Given the description of an element on the screen output the (x, y) to click on. 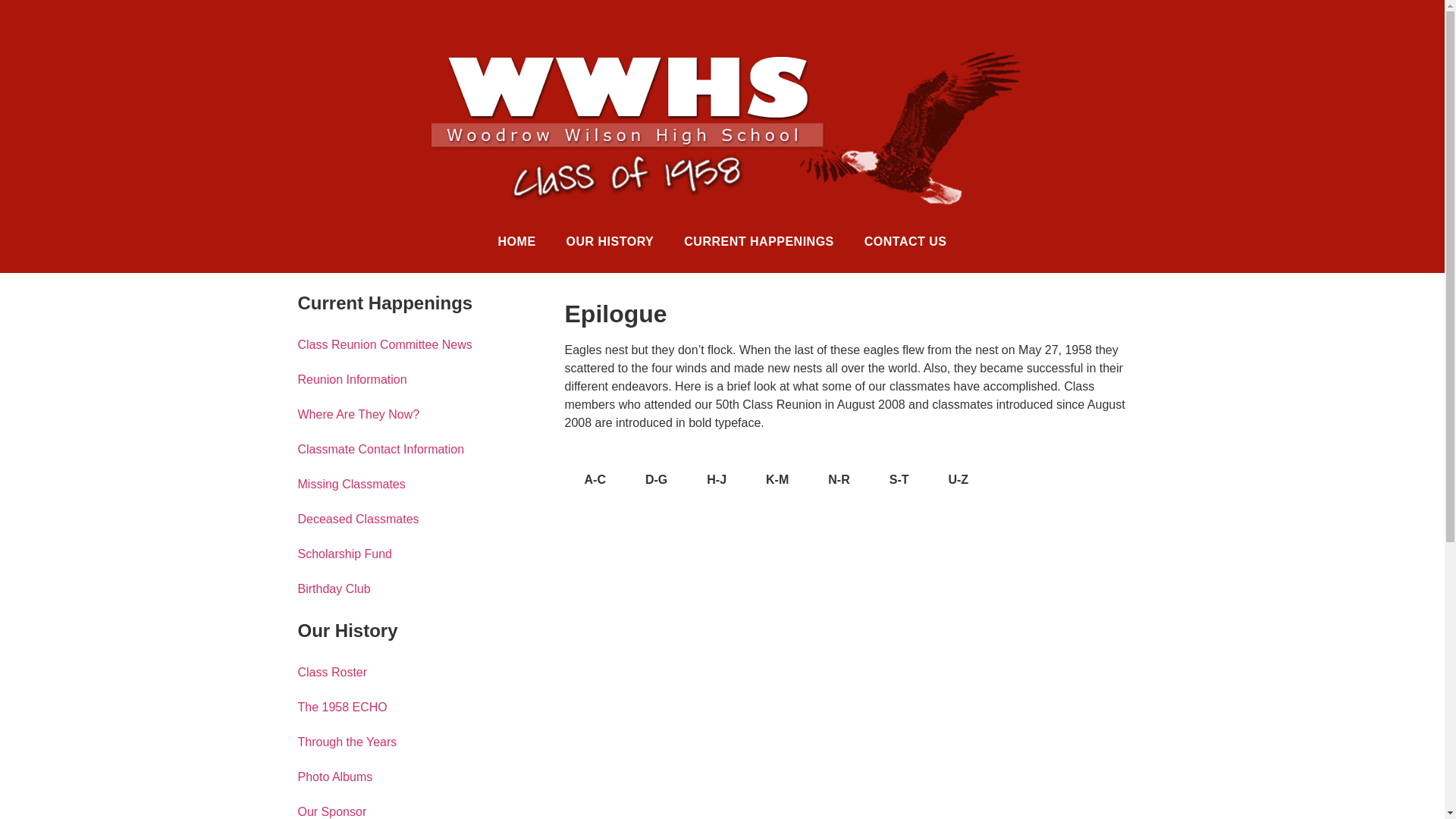
HOME (517, 241)
CURRENT HAPPENINGS (758, 241)
CONTACT US (905, 241)
OUR HISTORY (610, 241)
